Given the description of an element on the screen output the (x, y) to click on. 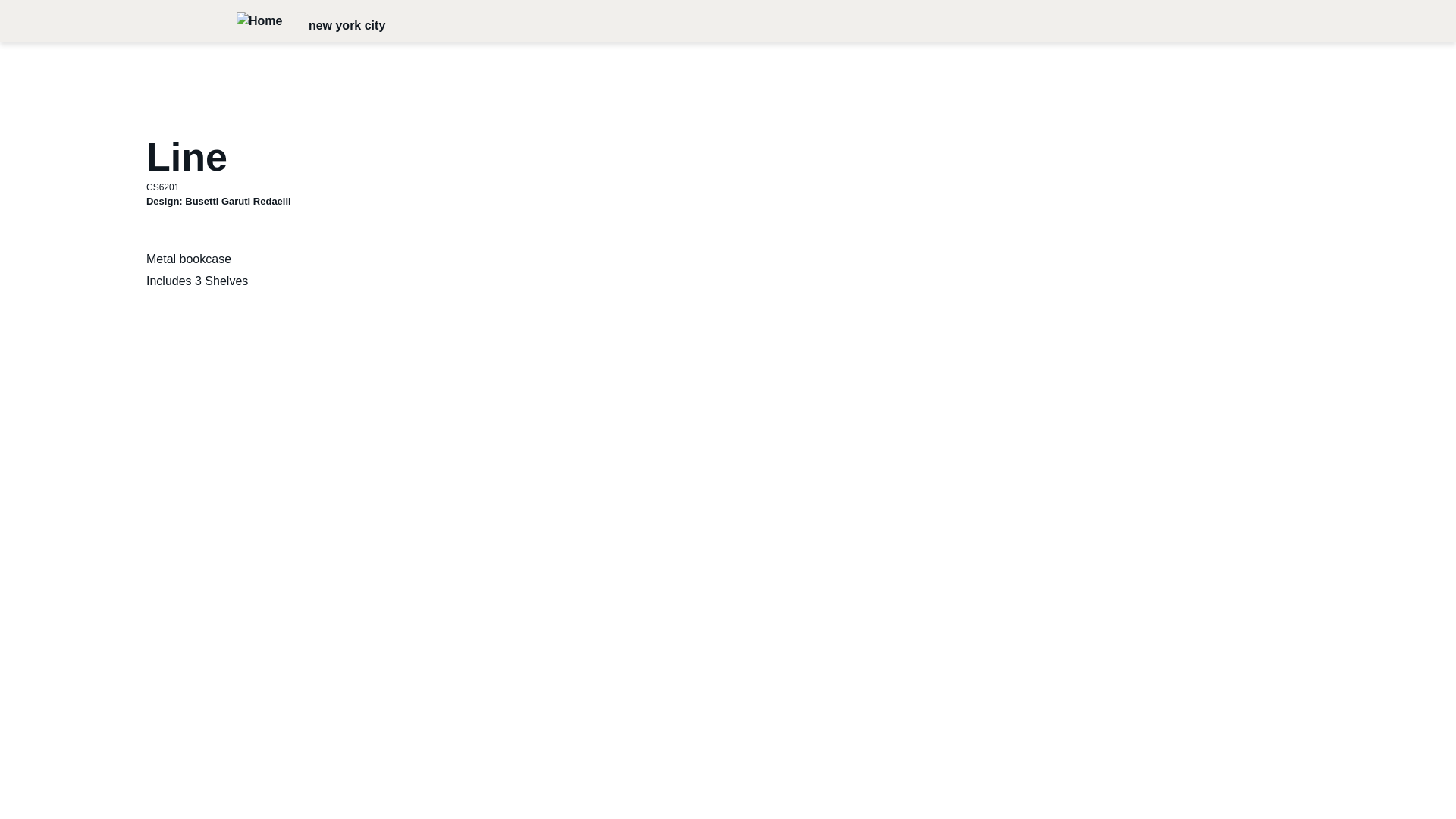
Home (258, 19)
